Given the description of an element on the screen output the (x, y) to click on. 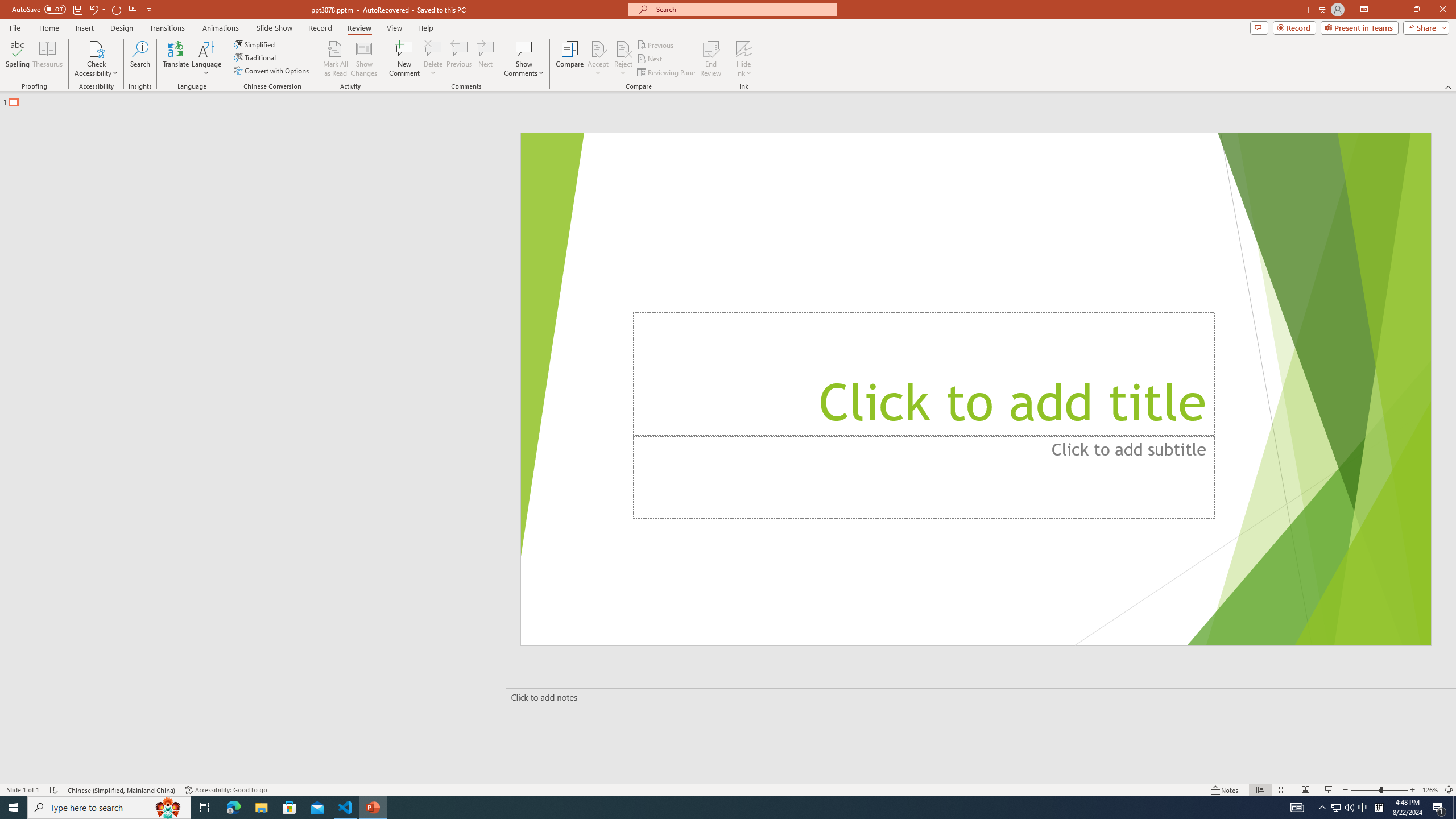
Simplified (254, 44)
Language (206, 58)
Convert with Options... (272, 69)
Mark All as Read (335, 58)
Traditional (255, 56)
Reject (622, 58)
